Given the description of an element on the screen output the (x, y) to click on. 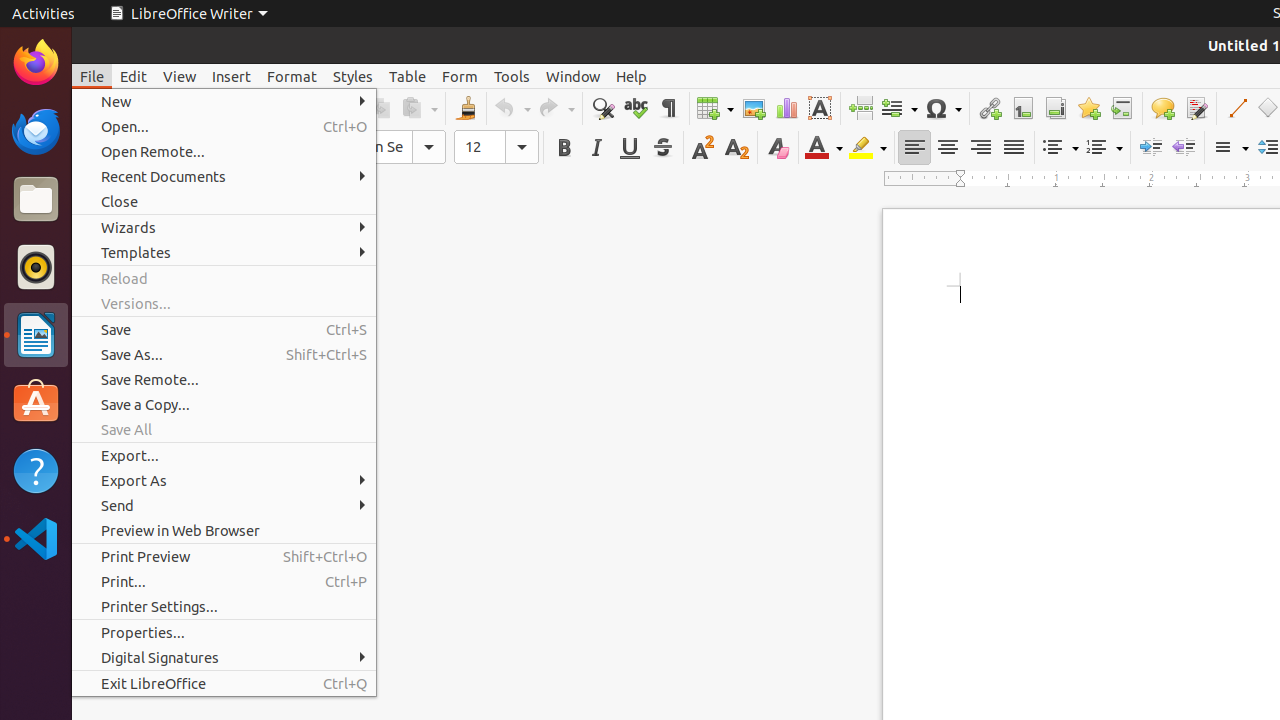
Left Element type: toggle-button (914, 147)
Reload Element type: menu-item (224, 278)
Save Remote... Element type: menu-item (224, 379)
Save a Copy... Element type: menu-item (224, 404)
Strikethrough Element type: toggle-button (662, 147)
